Given the description of an element on the screen output the (x, y) to click on. 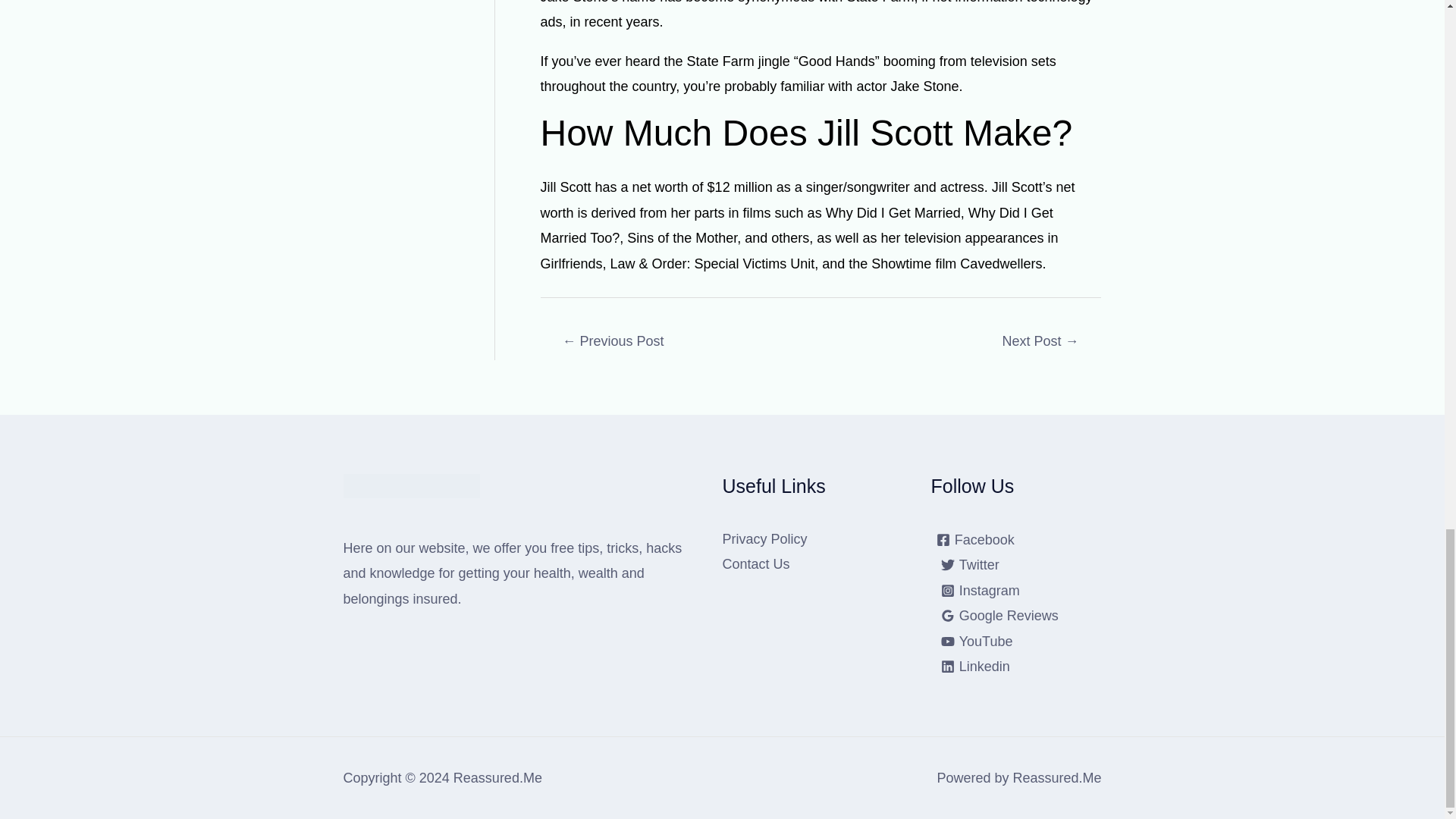
Does Homeowners Insurance Cover Evacuation Costs? (612, 342)
Twitter (970, 564)
Instagram (980, 590)
Privacy Policy (764, 539)
Facebook (975, 540)
YouTube (976, 641)
Is Cherry Eye Covered By Pet Insurance? (1040, 342)
Linkedin (975, 666)
Contact Us (755, 563)
Google Reviews (1000, 615)
